Given the description of an element on the screen output the (x, y) to click on. 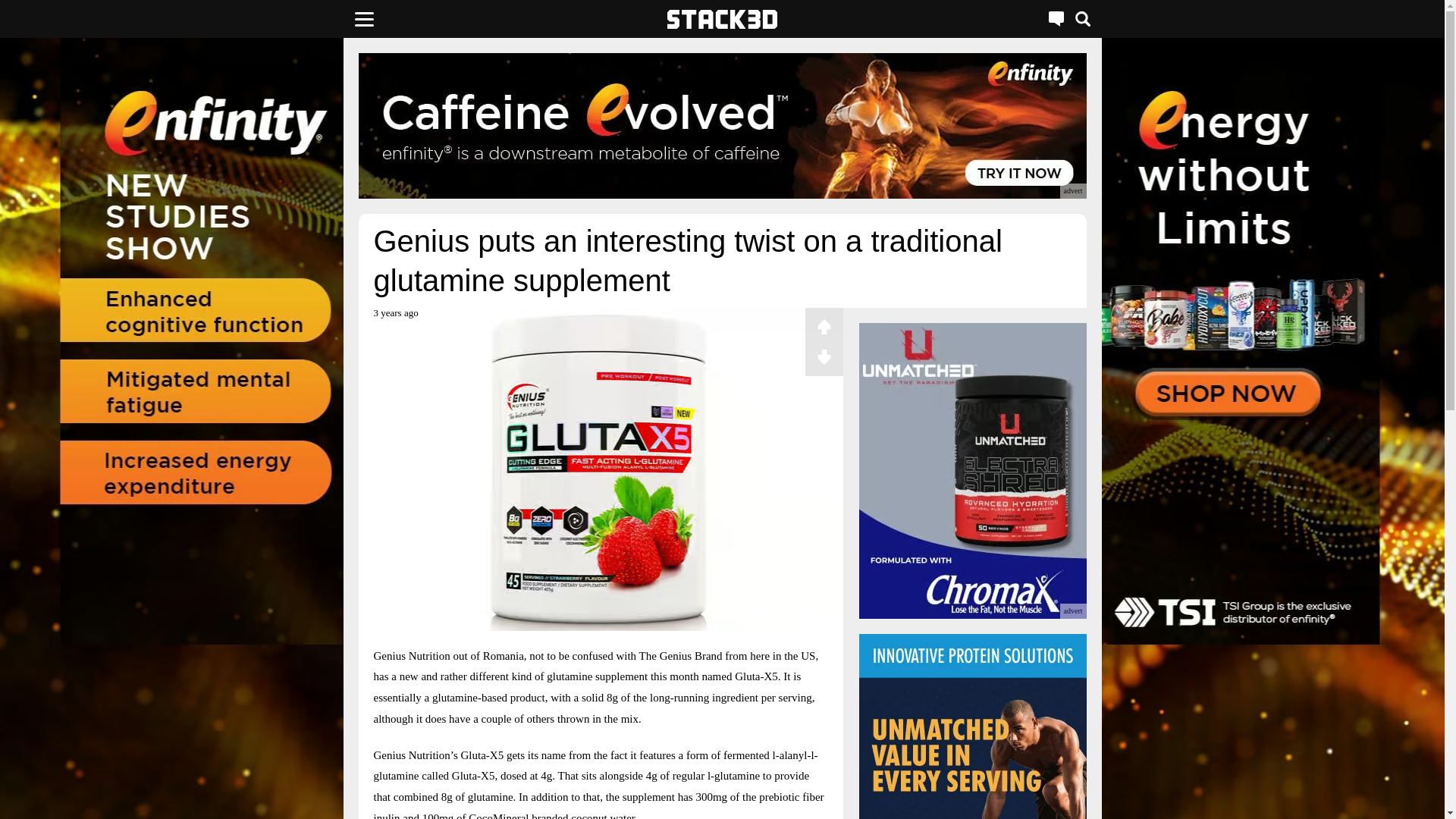
December 30th 2020 (395, 318)
